Given the description of an element on the screen output the (x, y) to click on. 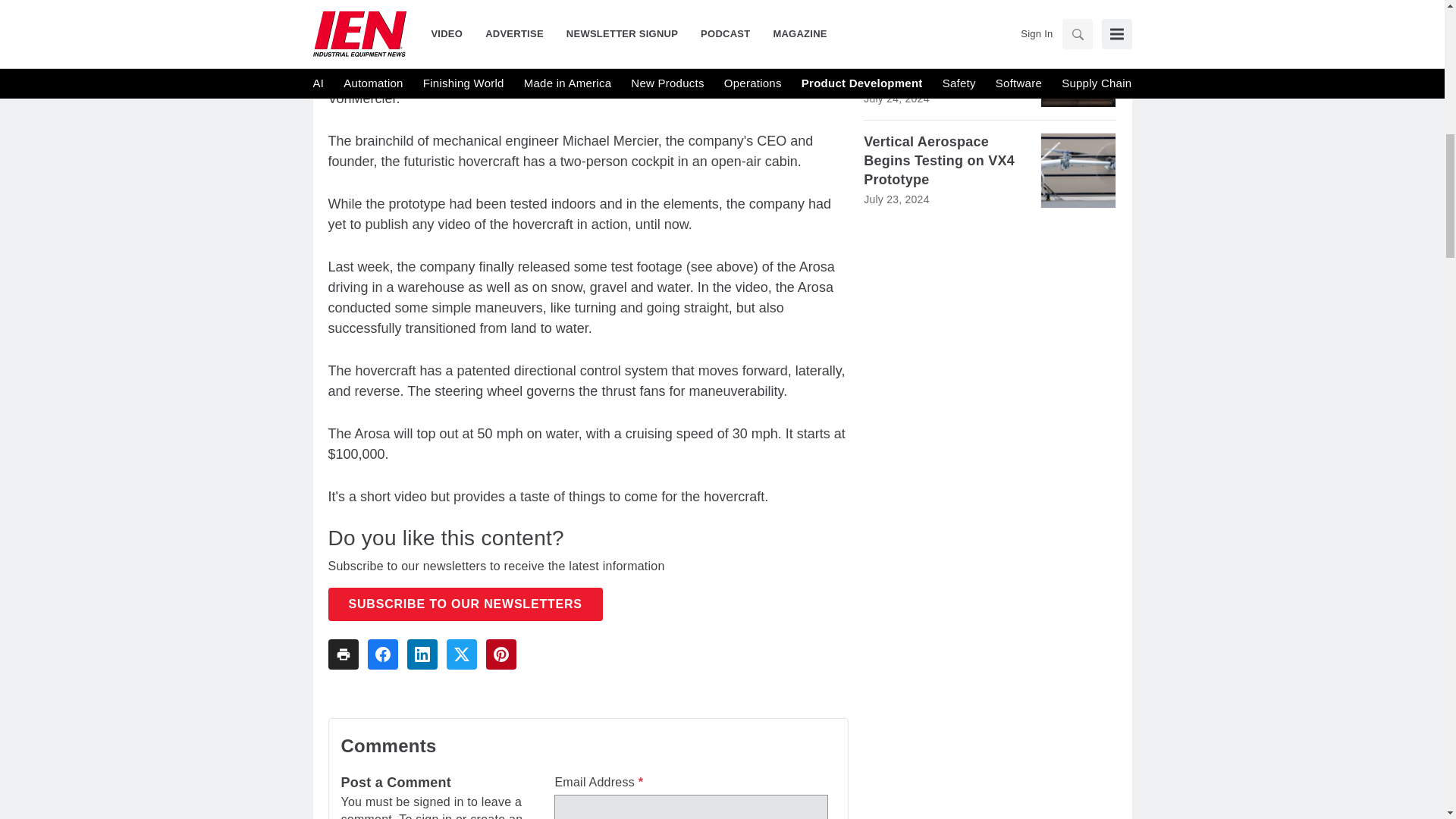
Unmute (373, 38)
Share (772, 38)
Pause (342, 38)
